Given the description of an element on the screen output the (x, y) to click on. 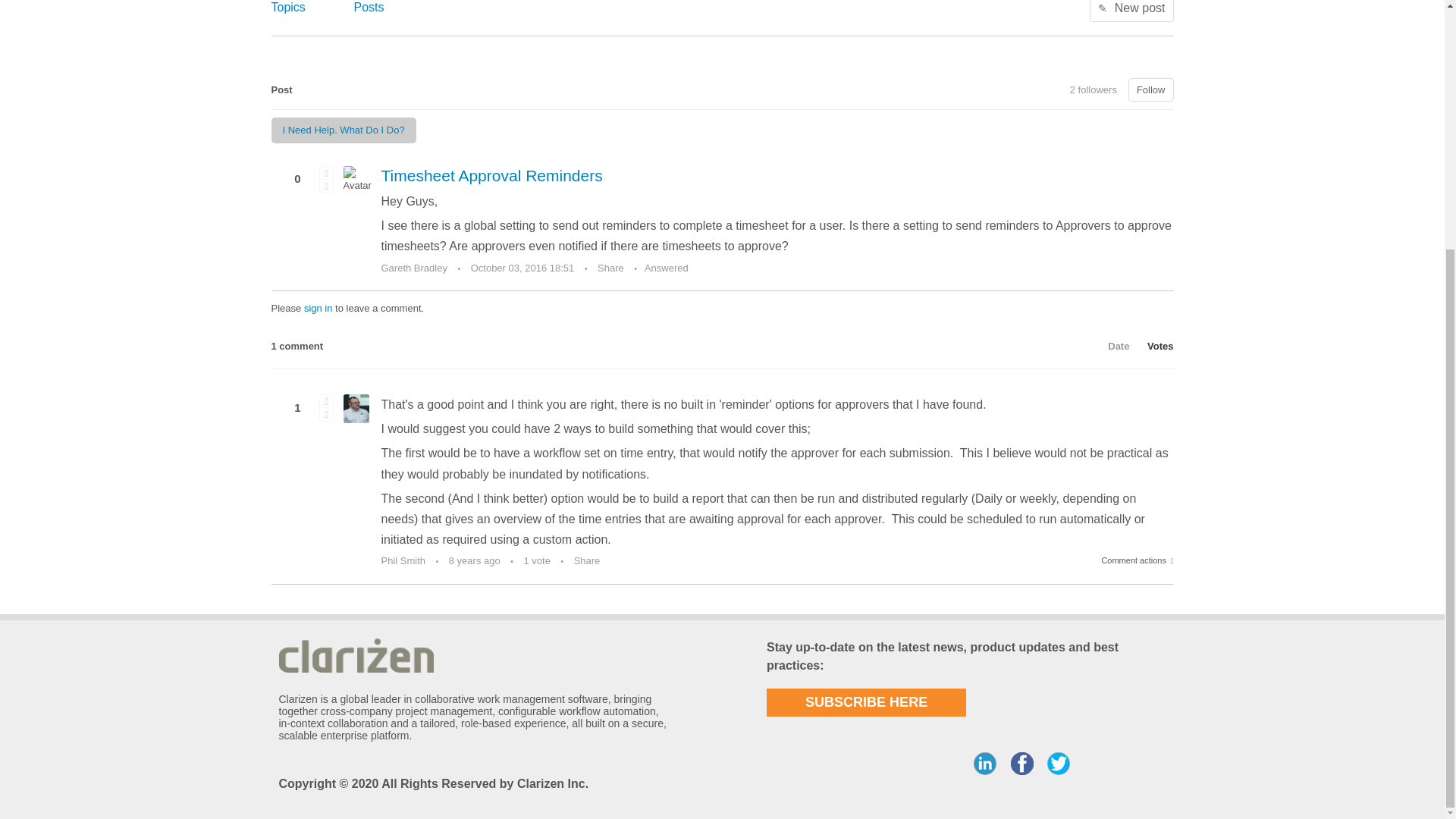
Follow (1150, 88)
Topics (287, 6)
Votes (1152, 346)
Opens a sign-in dialog (1150, 88)
2016-10-03 19:02 (474, 560)
Yes (325, 400)
No (325, 185)
I Need Help. What Do I Do? (343, 130)
No (325, 414)
New post (1131, 10)
Yes (325, 172)
SUBSCRIBE HERE (866, 702)
sign in (318, 307)
2016-10-03 18:51 (522, 267)
Date (1111, 346)
